Given the description of an element on the screen output the (x, y) to click on. 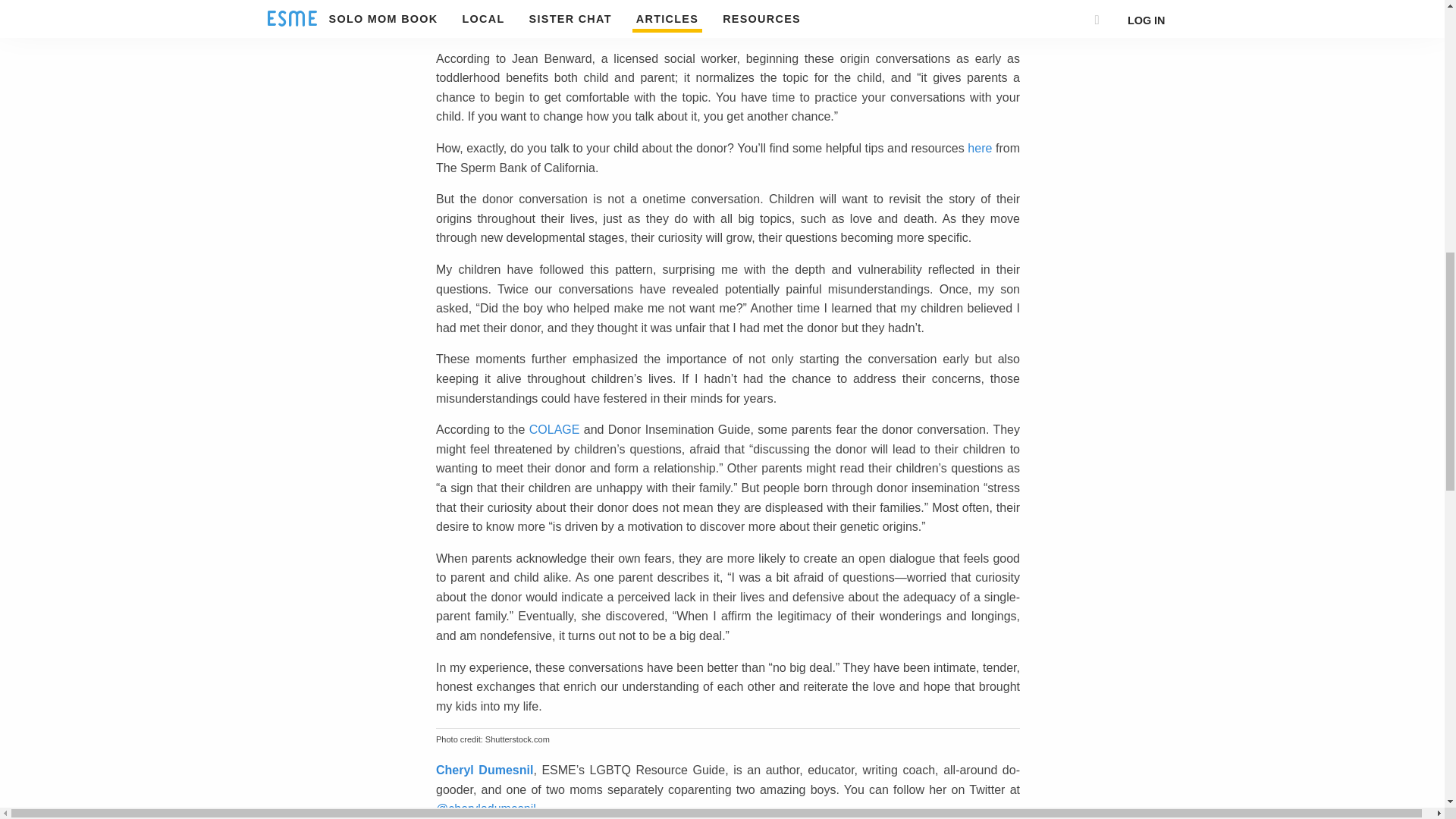
here (979, 147)
COLAGE (554, 429)
Cheryl Dumesnil (483, 769)
